Given the description of an element on the screen output the (x, y) to click on. 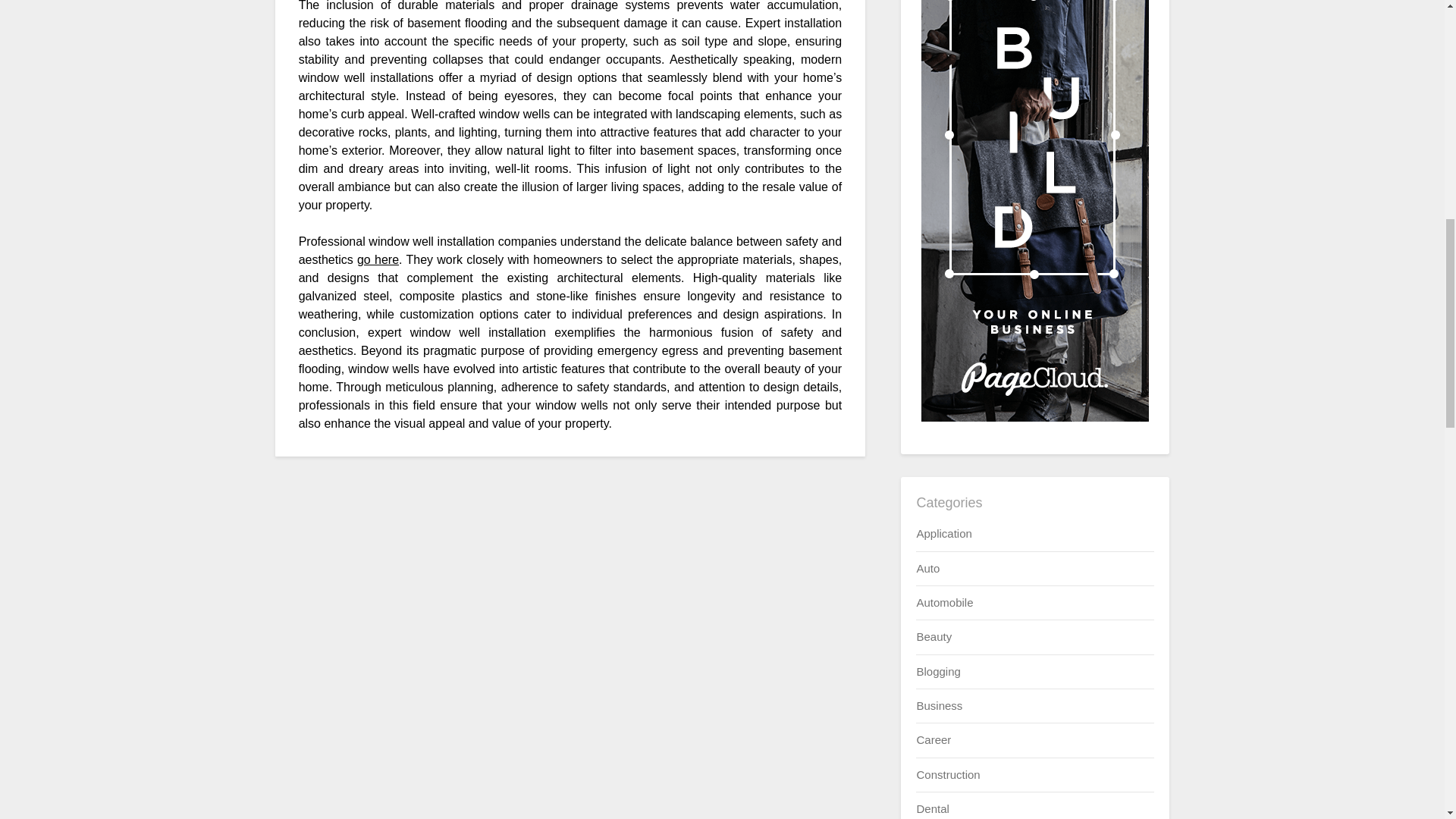
go here (377, 259)
